Given the description of an element on the screen output the (x, y) to click on. 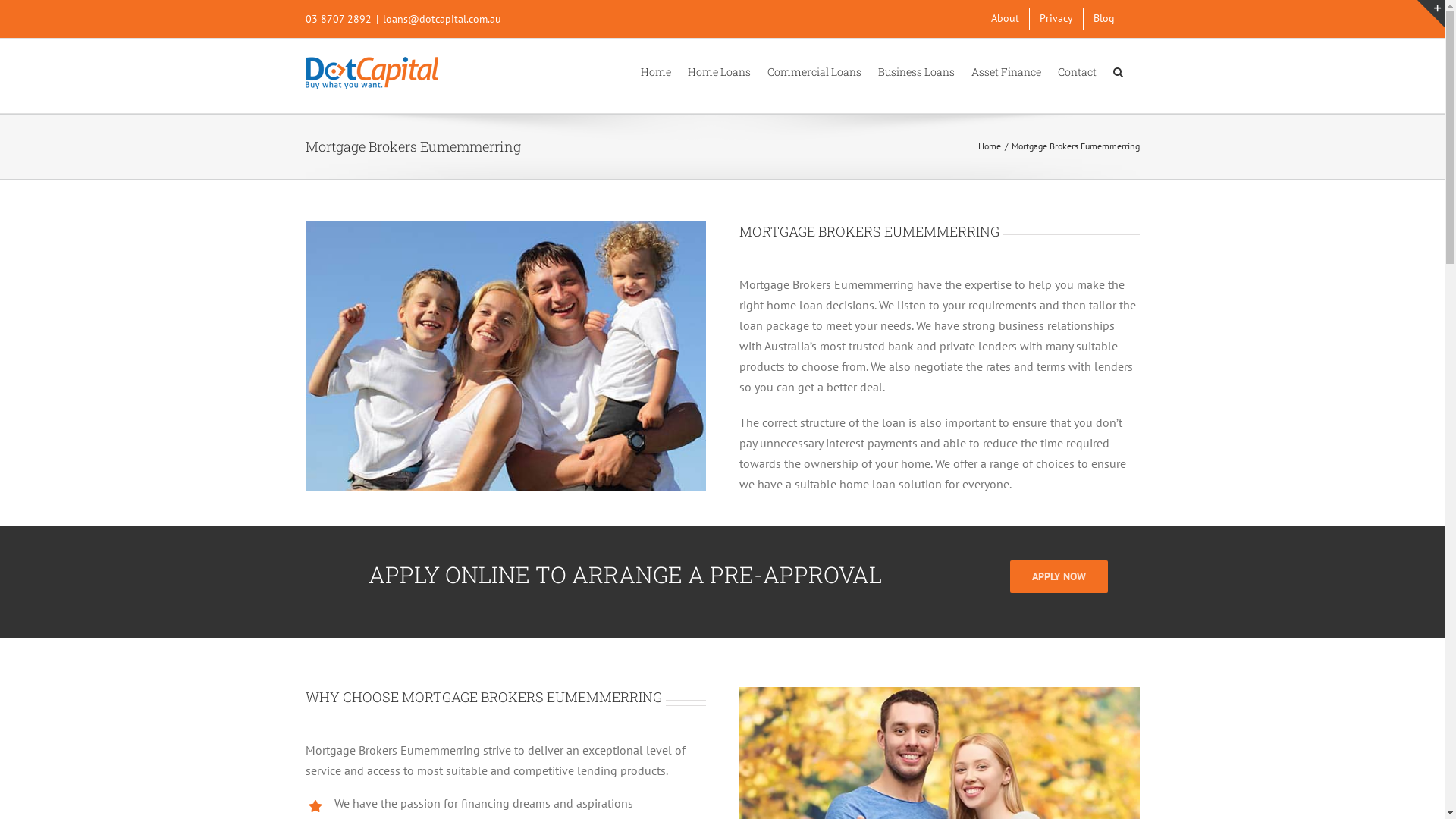
APPLY NOW Element type: text (1058, 576)
Search Element type: hover (1118, 70)
Privacy Element type: text (1055, 18)
Home Loans Element type: text (718, 70)
Toggle Sliding Bar Area Element type: text (1430, 13)
Mortgage Brokers Eumemmerring Element type: hover (504, 355)
loans@dotcapital.com.au Element type: text (441, 18)
Asset Finance Element type: text (1005, 70)
About Element type: text (1005, 18)
Blog Element type: text (1102, 18)
Contact Element type: text (1076, 70)
Business Loans Element type: text (916, 70)
Home Element type: text (989, 145)
03 8707 2892 Element type: text (337, 18)
Commercial Loans Element type: text (814, 70)
Home Element type: text (655, 70)
